Given the description of an element on the screen output the (x, y) to click on. 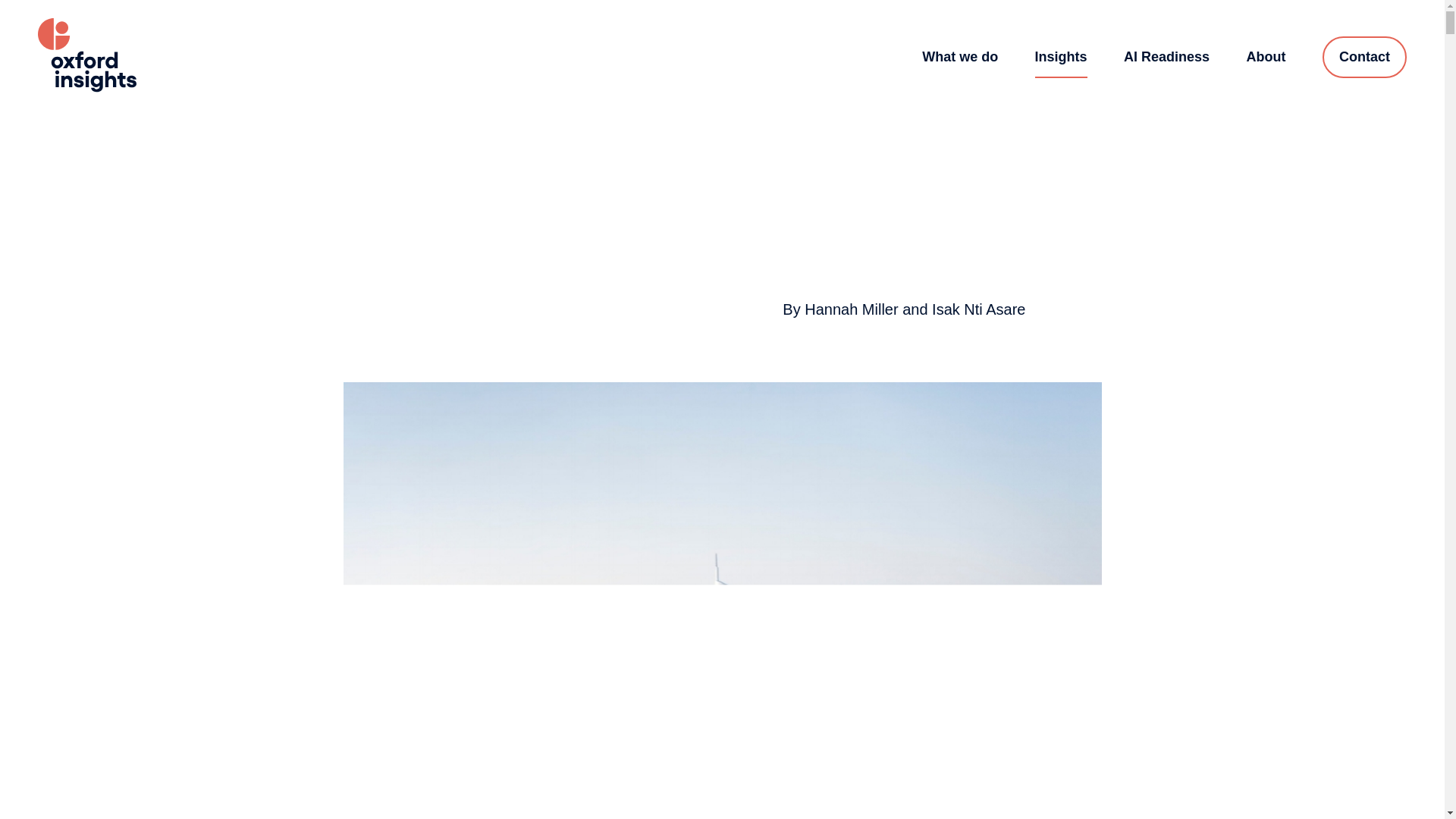
Contact (1364, 56)
Insights (1061, 56)
About (1265, 56)
What we do (959, 56)
AI Readiness (1166, 56)
